Given the description of an element on the screen output the (x, y) to click on. 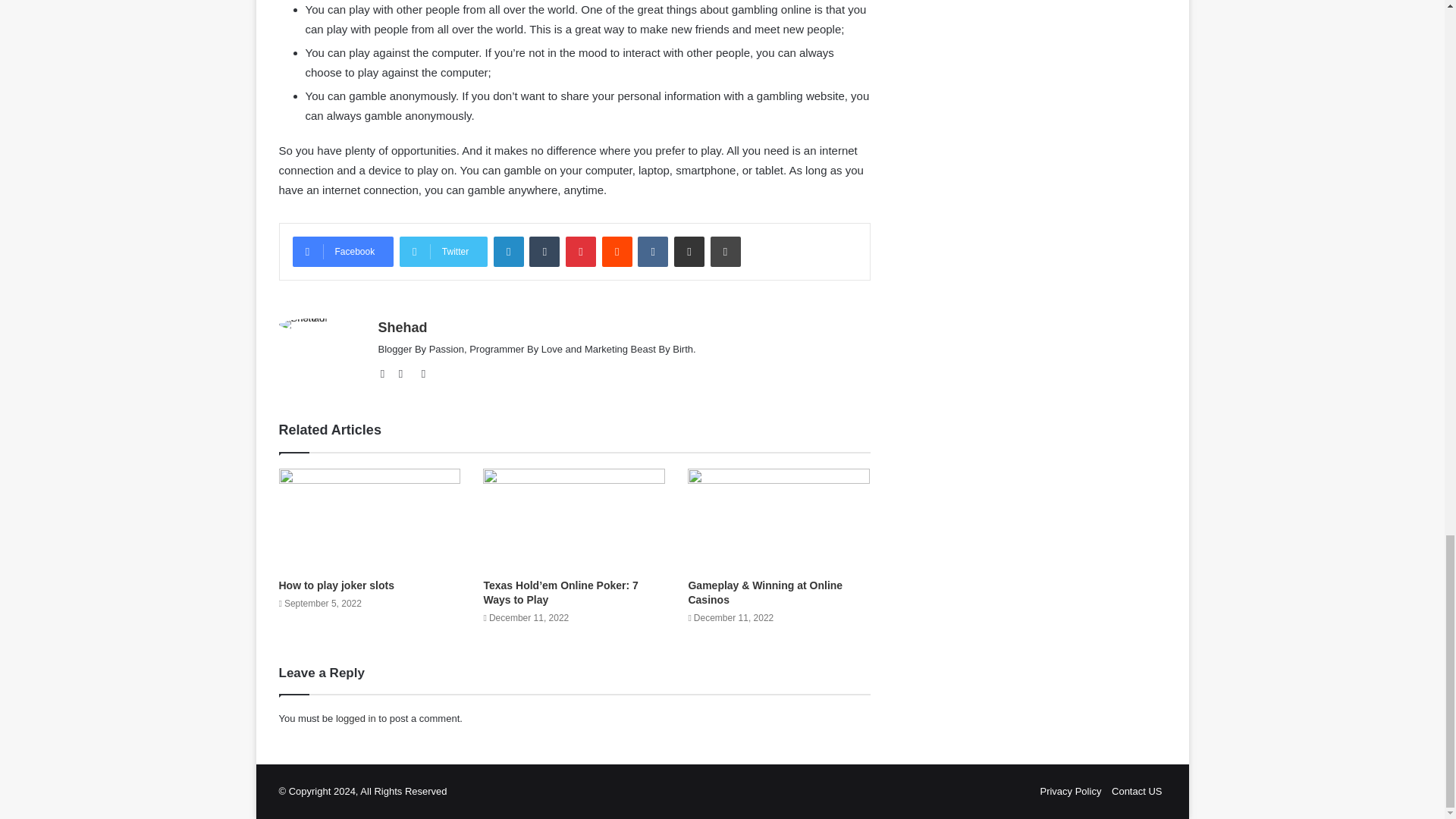
Reddit (616, 251)
Print (725, 251)
VKontakte (652, 251)
Tumblr (544, 251)
Share via Email (689, 251)
How to play joker slots (336, 585)
Pinterest (580, 251)
LinkedIn (508, 251)
Pinterest (580, 251)
Twitter (422, 373)
